Given the description of an element on the screen output the (x, y) to click on. 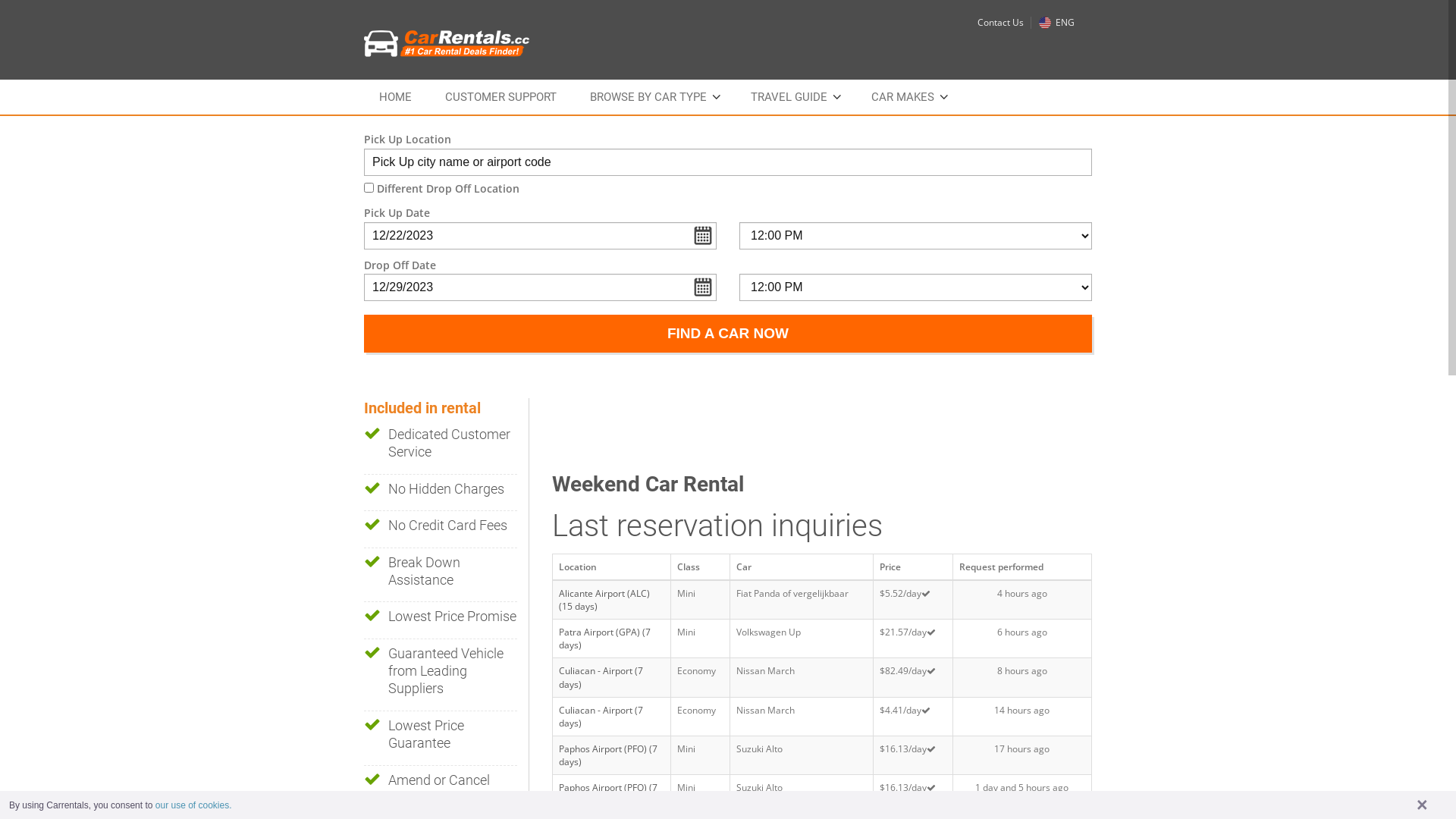
BROWSE BY CAR TYPE Element type: text (653, 96)
TRAVEL GUIDE Element type: text (794, 96)
Advertisement Element type: hover (828, 432)
CUSTOMER SUPPORT Element type: text (500, 96)
CAR MAKES Element type: text (908, 96)
en Element type: hover (1044, 22)
ENG Element type: text (1056, 21)
HOME Element type: text (395, 96)
our use of cookies. Element type: text (193, 805)
FIND A CAR NOW Element type: text (728, 333)
Contact Us Element type: text (1000, 21)
